Given the description of an element on the screen output the (x, y) to click on. 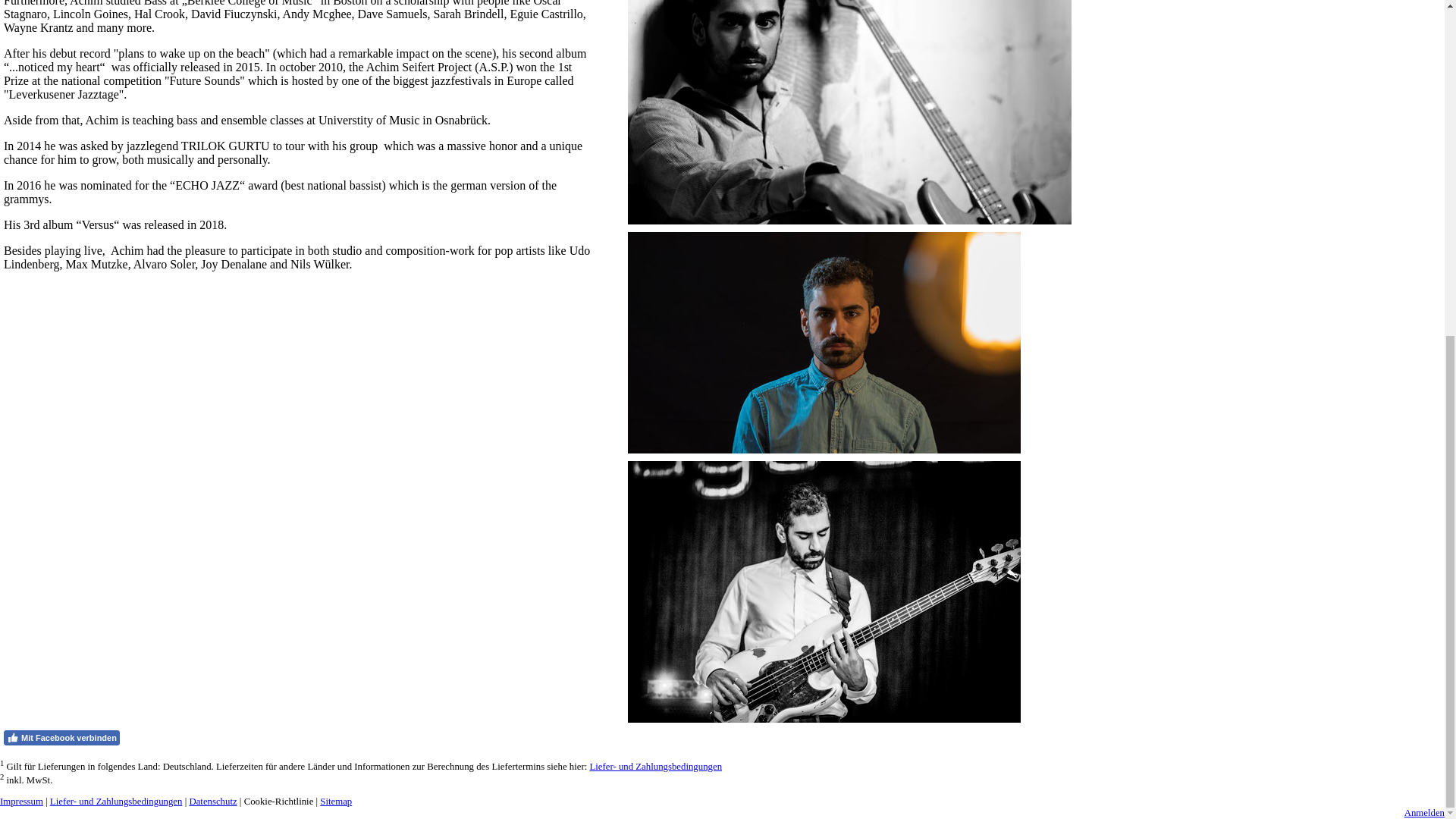
Mit Facebook verbinden (61, 737)
Liefer- und Zahlungsbedingungen (116, 801)
Cookie-Richtlinie (279, 801)
Datenschutz (212, 801)
Impressum (21, 801)
Sitemap (336, 801)
Liefer- und Zahlungsbedingungen (655, 766)
